Given the description of an element on the screen output the (x, y) to click on. 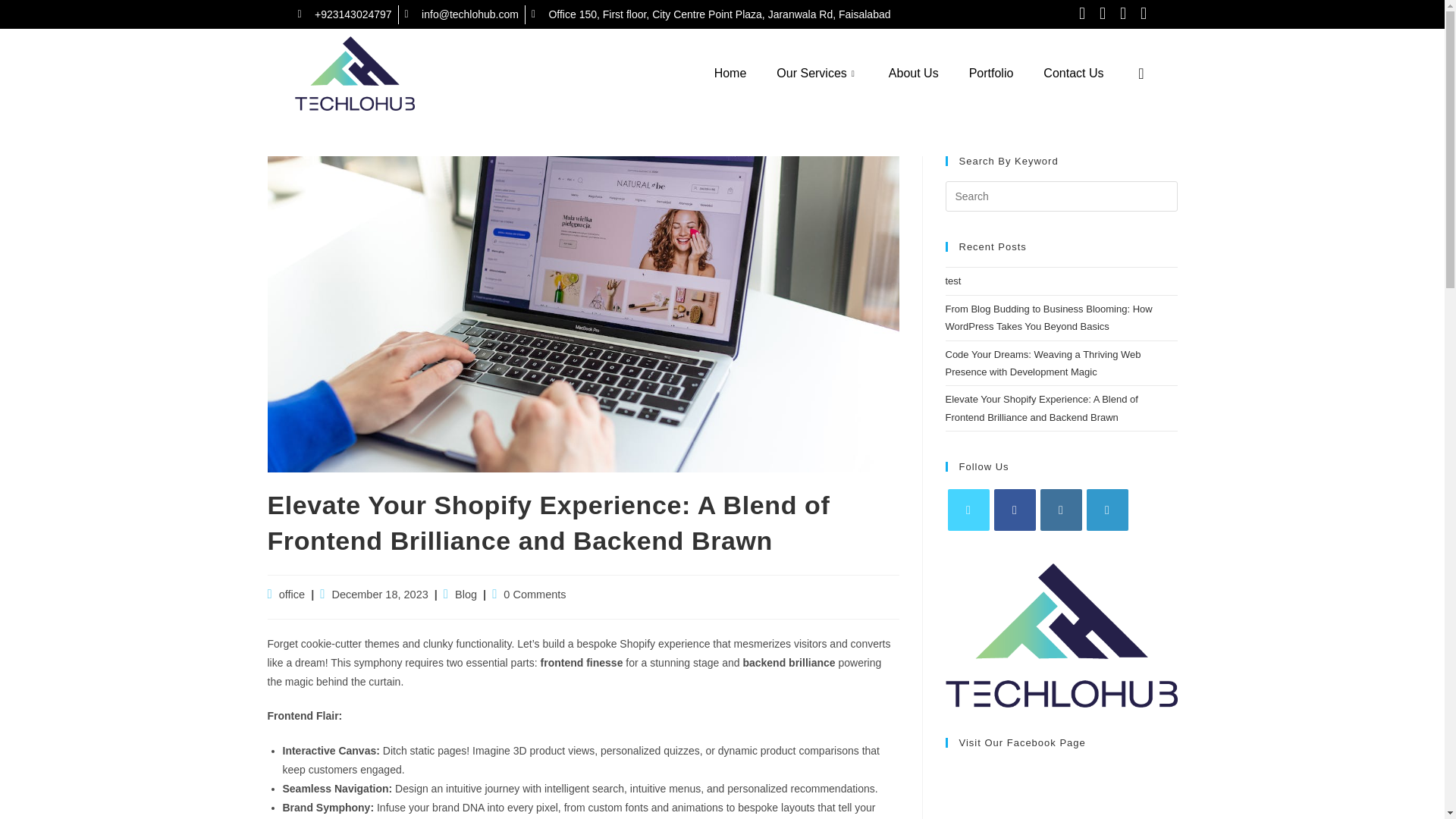
Posts by office (291, 594)
Our Services (817, 73)
About Us (913, 73)
0 Comments (534, 594)
Portfolio (991, 73)
Home (729, 73)
test (952, 280)
Contact Us (1072, 73)
